Given the description of an element on the screen output the (x, y) to click on. 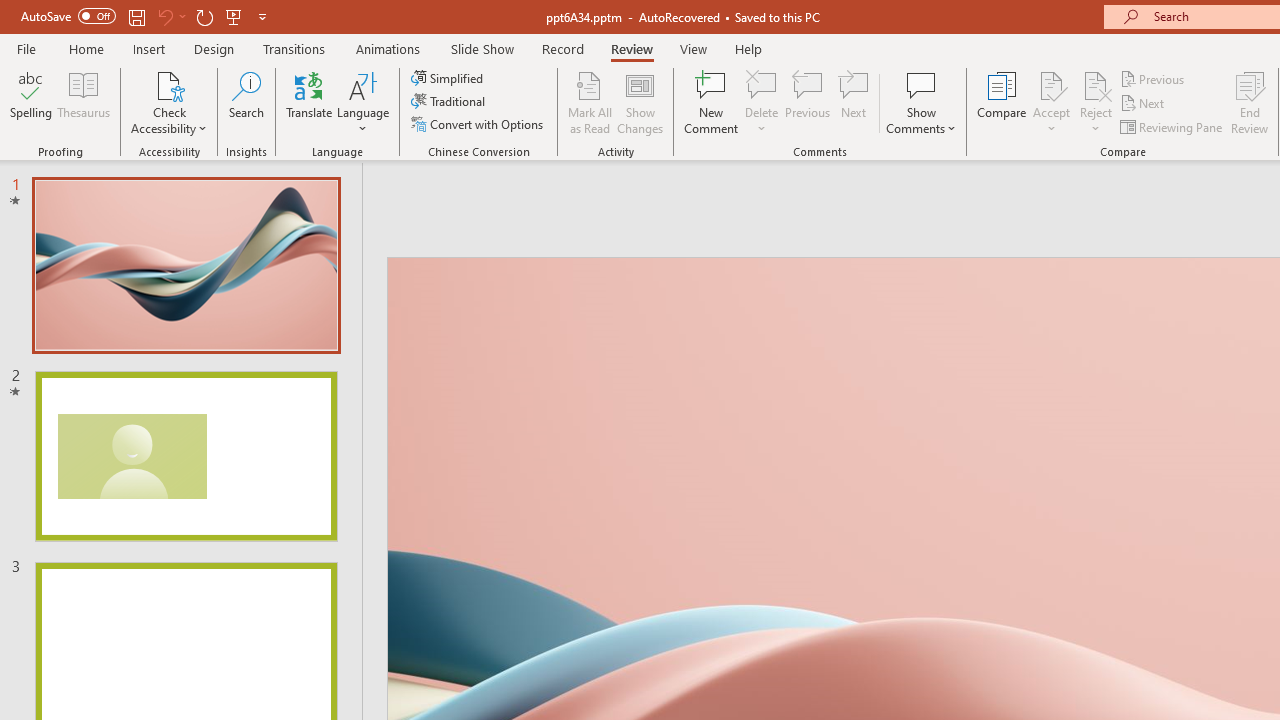
Show Changes (639, 102)
Mark All as Read (589, 102)
New Comment (711, 102)
Previous (1153, 78)
